Given the description of an element on the screen output the (x, y) to click on. 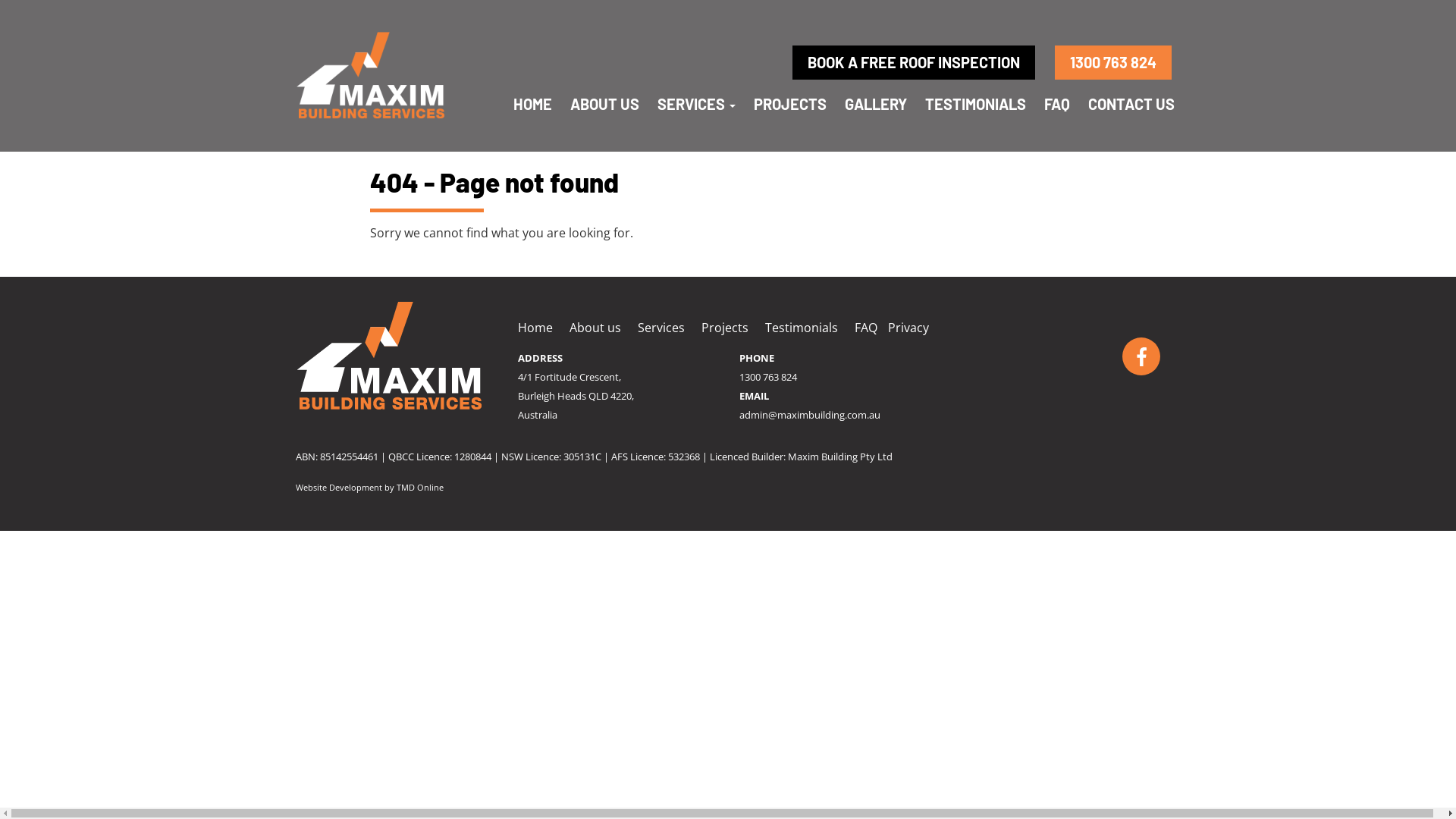
Privacy Element type: text (907, 327)
FAQ Element type: text (864, 327)
1300 763 824 Element type: text (768, 376)
HOME Element type: text (532, 103)
Testimonials Element type: text (800, 327)
Website Development by TMD Online Element type: text (369, 486)
CONTACT US Element type: text (1131, 103)
admin@maximbuilding.com.au Element type: text (809, 414)
BOOK A FREE ROOF INSPECTION Element type: text (913, 62)
PROJECTS Element type: text (789, 103)
ABOUT US Element type: text (604, 103)
Projects Element type: text (723, 327)
FAQ Element type: text (1057, 103)
Maxim  Logo Element type: hover (390, 356)
TESTIMONIALS Element type: text (975, 103)
1300 763 824 Element type: text (1112, 62)
Home Element type: text (534, 327)
SERVICES Element type: text (696, 103)
Services Element type: text (660, 327)
GALLERY Element type: text (875, 103)
About us Element type: text (594, 327)
Maxim  Logo Element type: hover (371, 76)
